Given the description of an element on the screen output the (x, y) to click on. 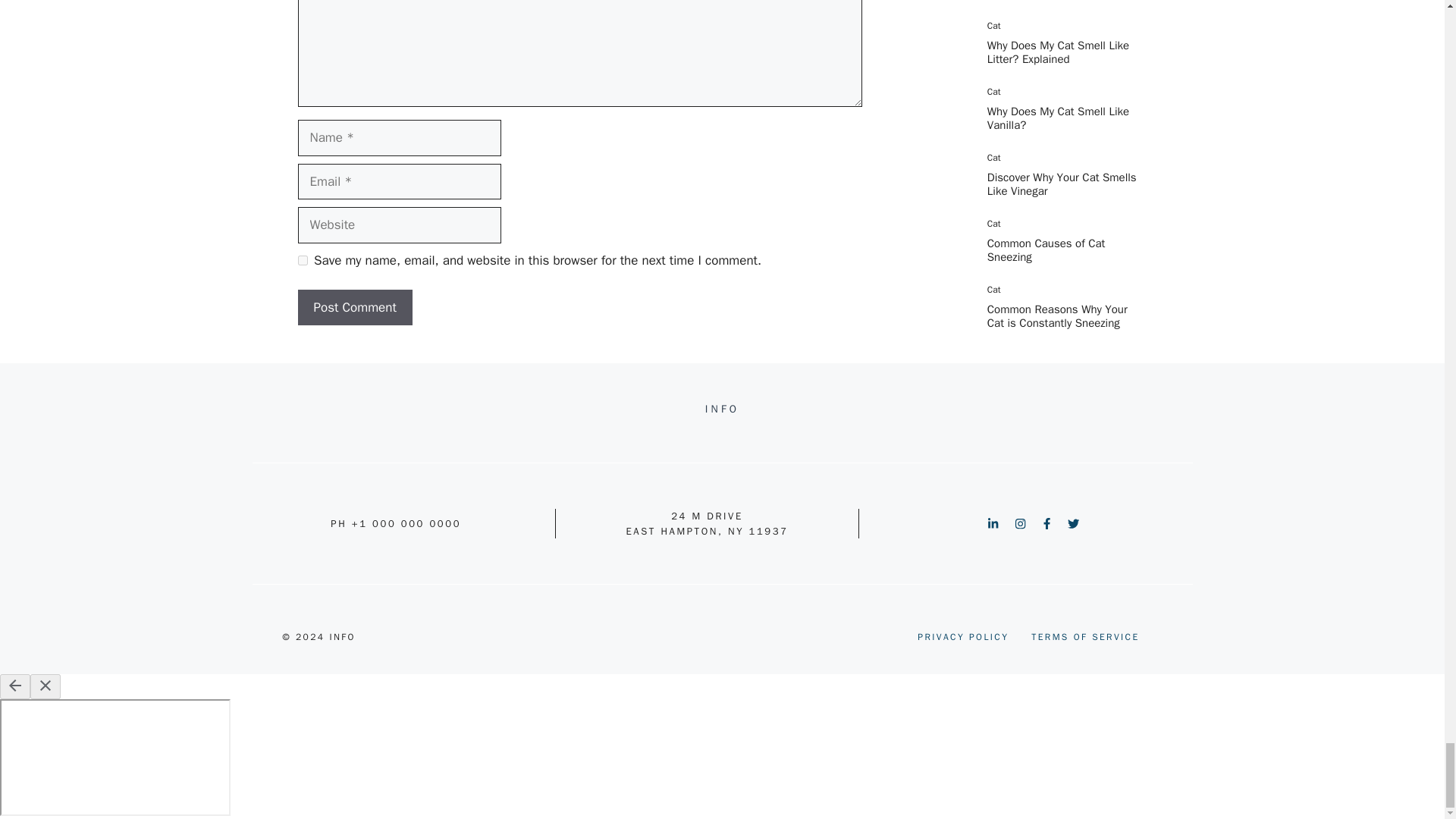
TERMS OF SERVICE (1084, 636)
Post Comment (354, 307)
yes (302, 260)
Post Comment (354, 307)
PRIVACY POLICY (963, 636)
